Given the description of an element on the screen output the (x, y) to click on. 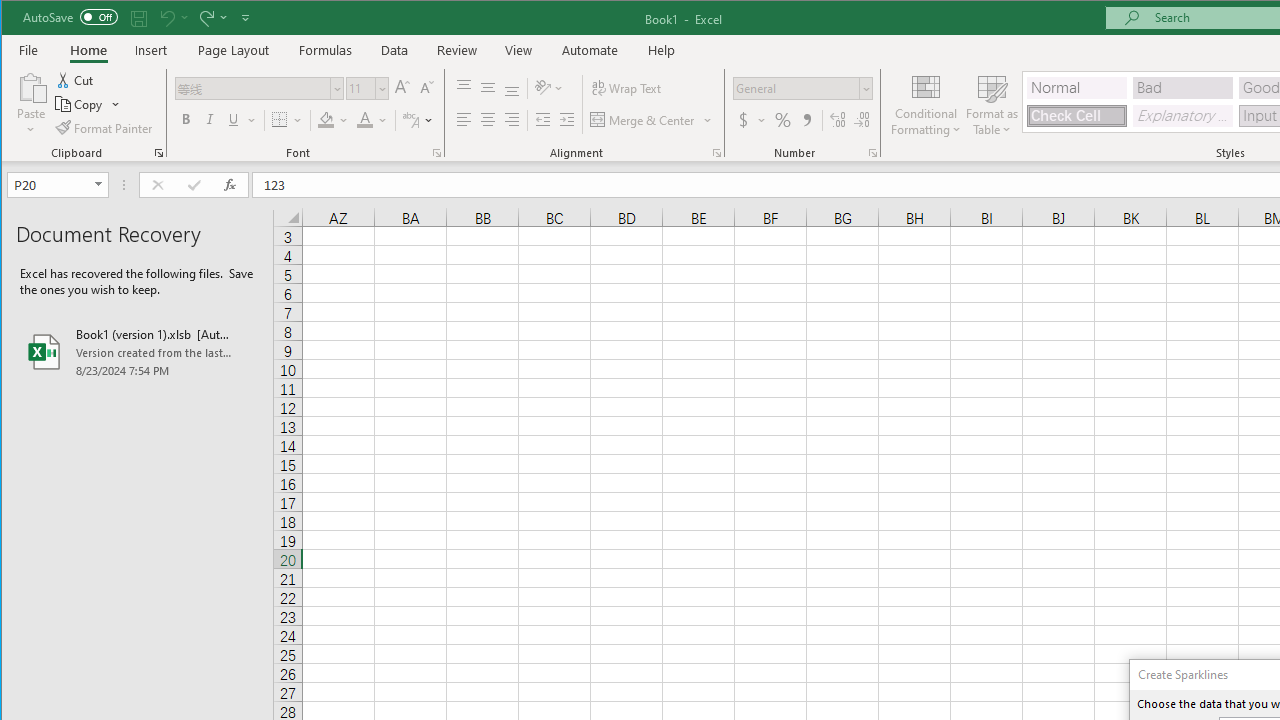
Increase Decimal (837, 119)
Show Phonetic Field (417, 119)
Format Cell Font (436, 152)
Cut (75, 80)
Decrease Indent (543, 119)
Number Format (802, 88)
Center (488, 119)
Align Right (511, 119)
Middle Align (488, 88)
Explanatory Text (1183, 116)
Office Clipboard... (158, 152)
